Given the description of an element on the screen output the (x, y) to click on. 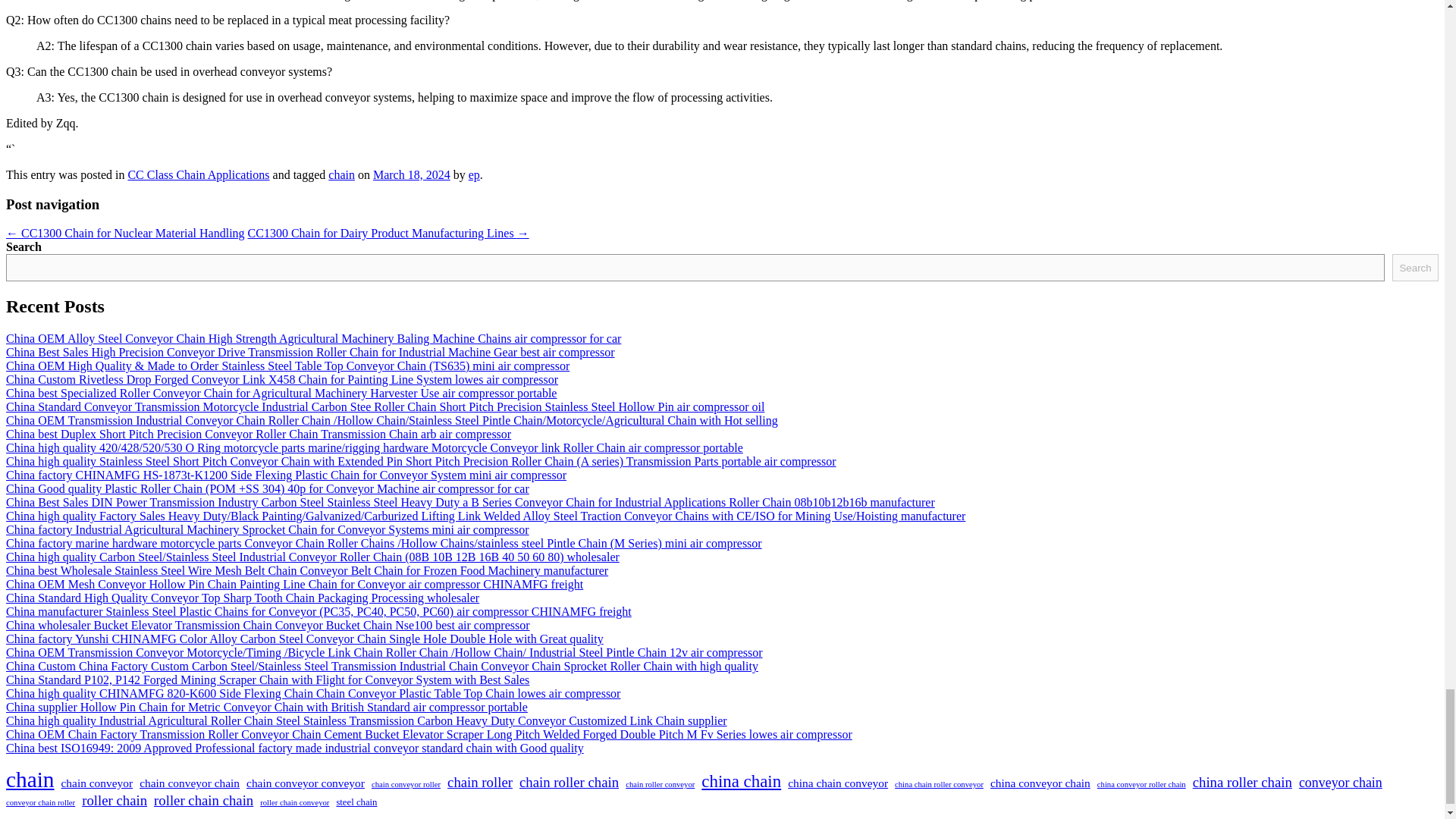
CC Class Chain Applications (198, 174)
